Given the description of an element on the screen output the (x, y) to click on. 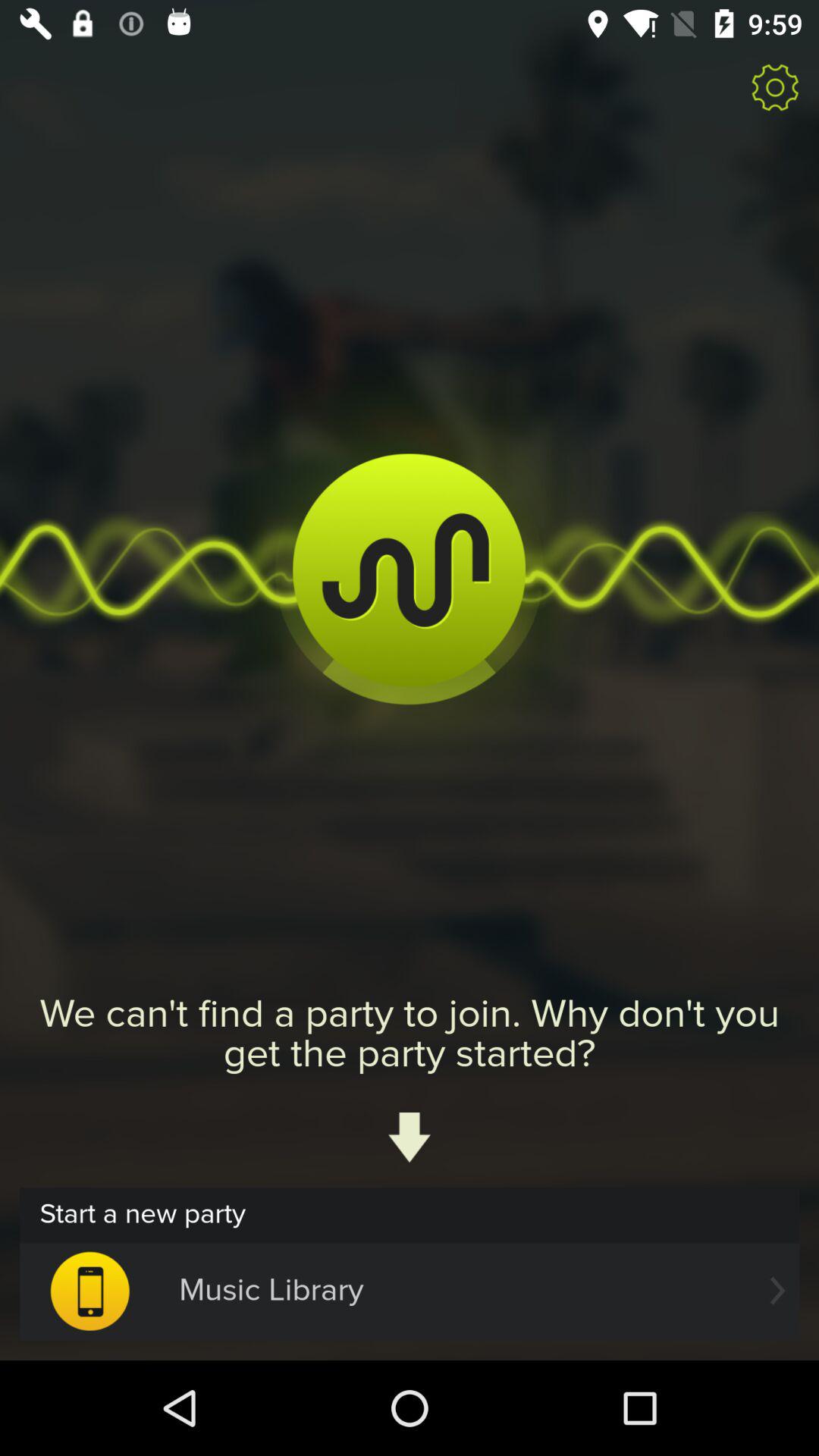
swipe until music library item (409, 1290)
